Given the description of an element on the screen output the (x, y) to click on. 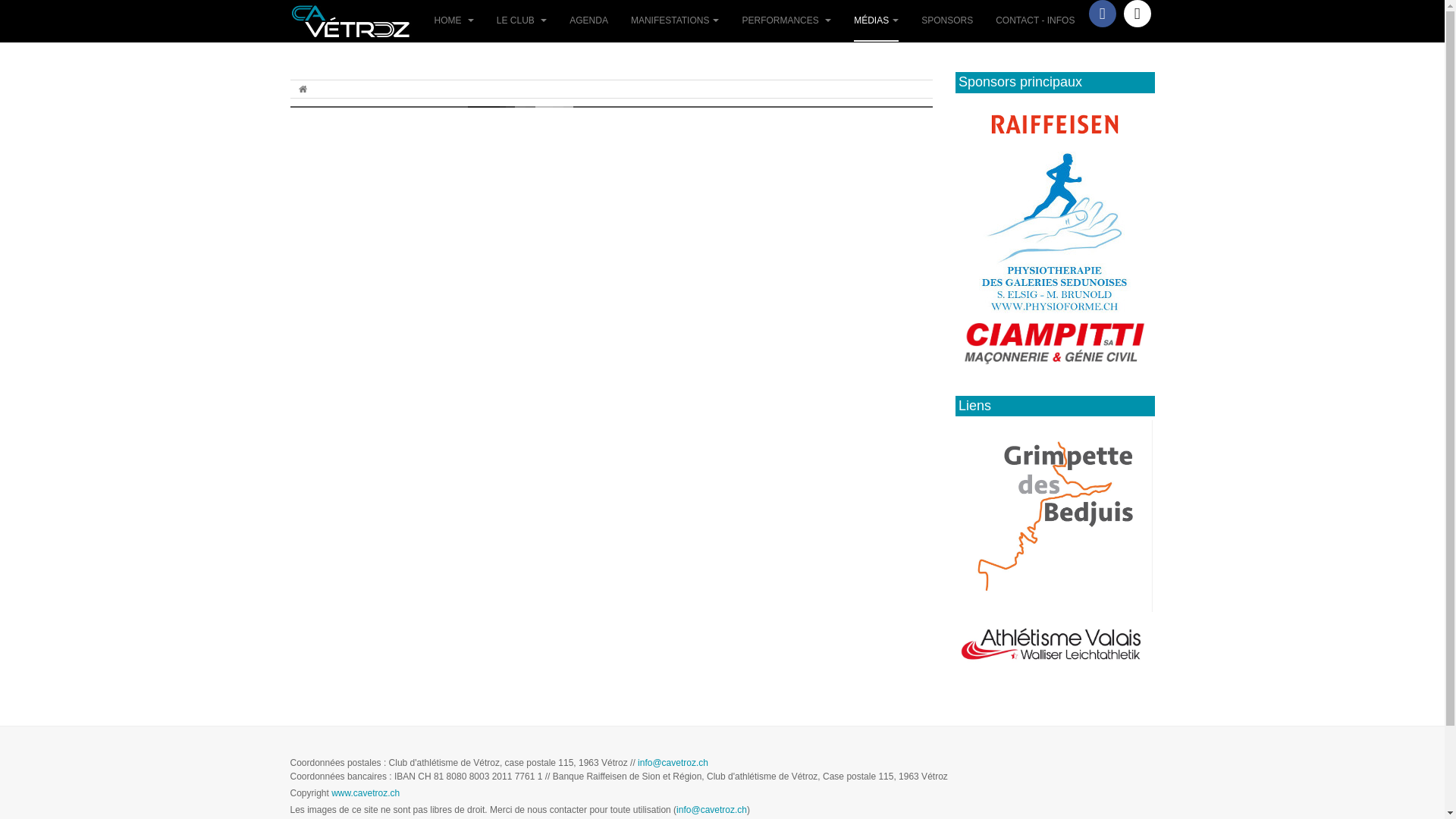
HOME Element type: text (453, 20)
PERFORMANCES Element type: text (786, 20)
Physioforme Element type: hover (1054, 230)
Ciampitti Element type: hover (1054, 337)
AGENDA Element type: text (588, 20)
LE CLUB Element type: text (521, 20)
www.cavetroz.ch Element type: text (365, 792)
CONTACT - INFOS Element type: text (1034, 20)
info@cavetroz.ch Element type: text (711, 809)
MANIFESTATIONS Element type: text (674, 20)
Raiffeisen Element type: hover (1054, 123)
SPONSORS Element type: text (946, 20)
info@cavetroz.ch Element type: text (672, 762)
